Given the description of an element on the screen output the (x, y) to click on. 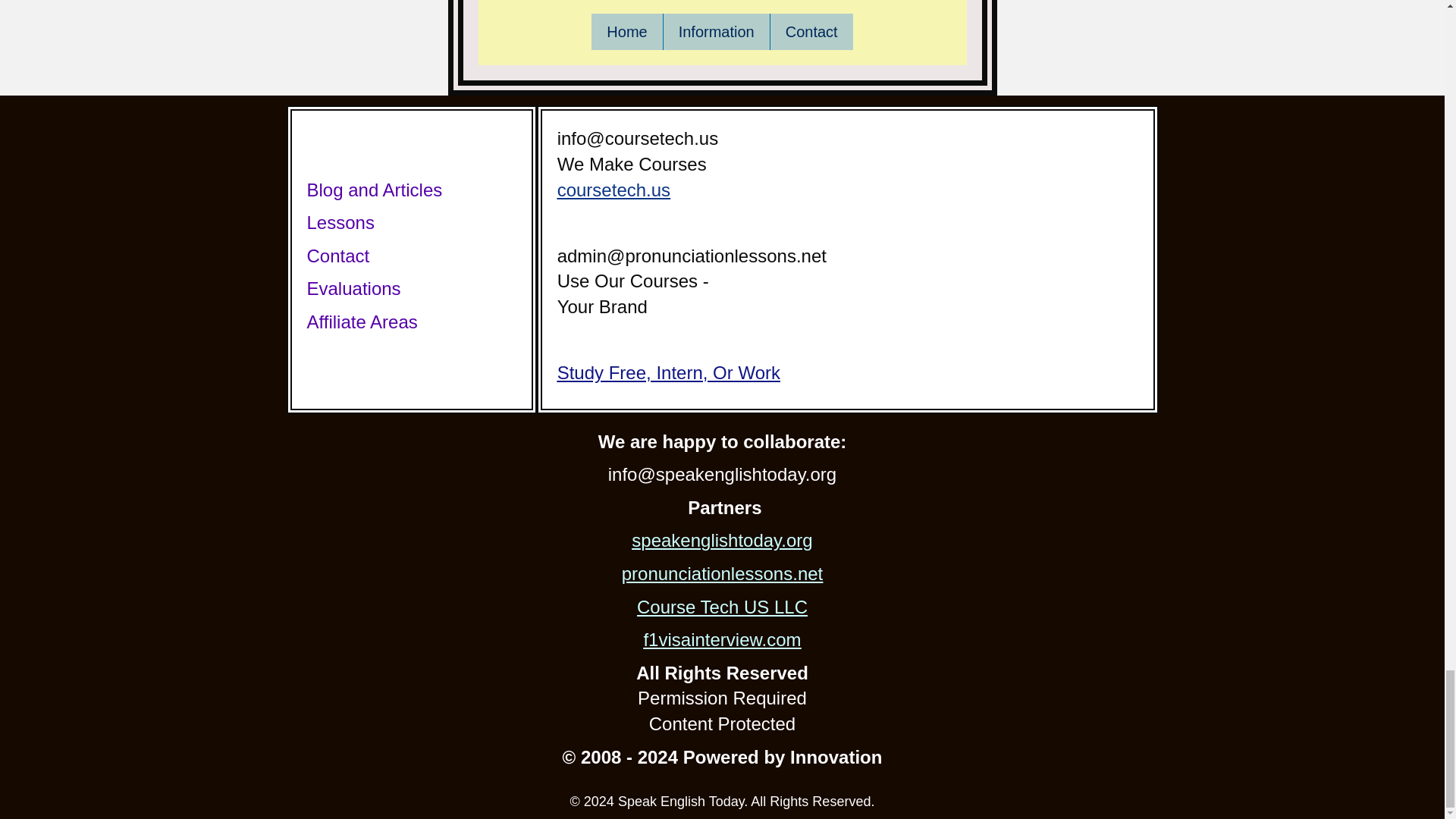
Information (716, 31)
Contact (811, 31)
Home (626, 31)
Blog and Articles (373, 189)
Lessons (339, 222)
